Given the description of an element on the screen output the (x, y) to click on. 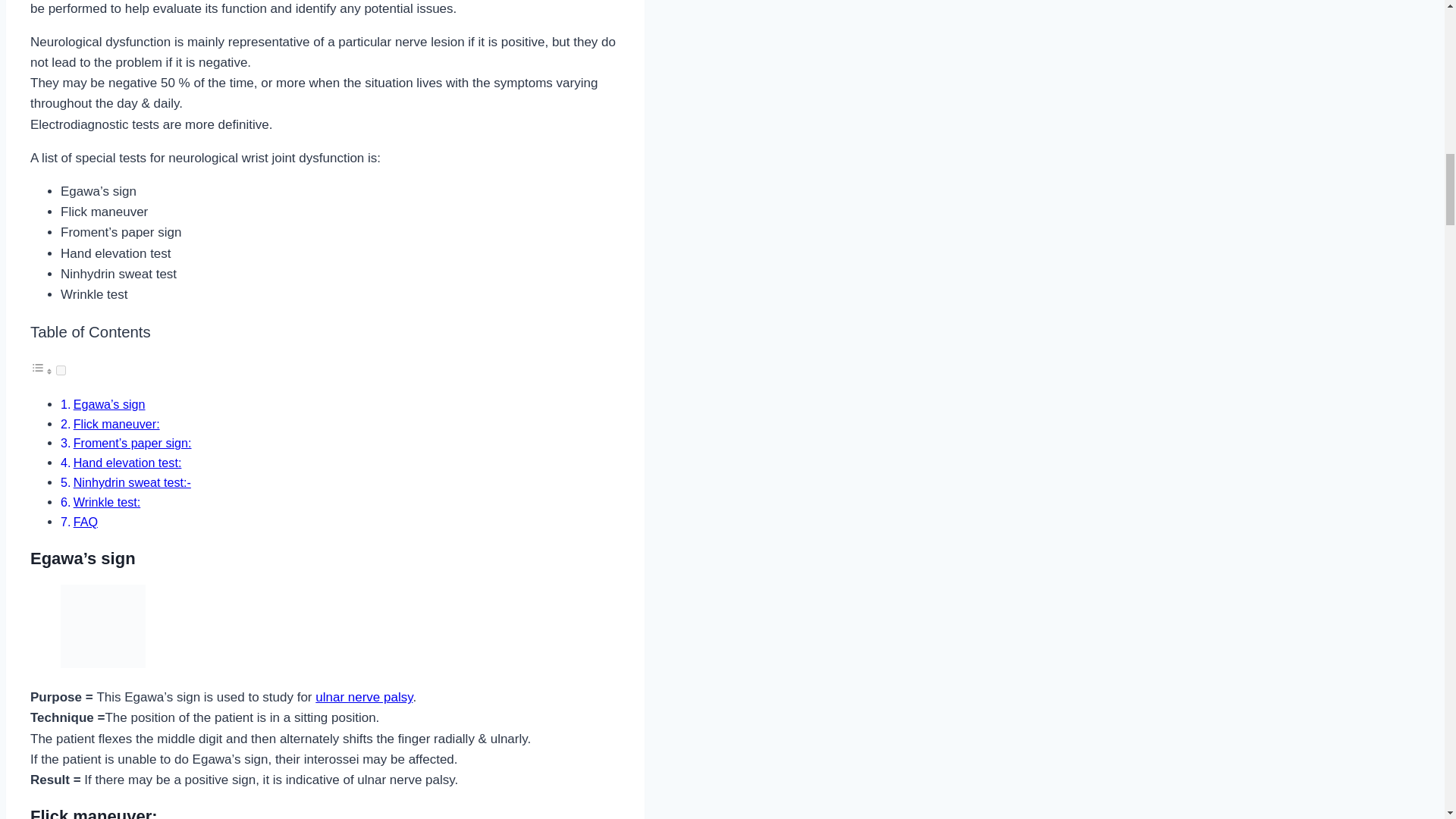
Ninhydrin sweat test:- (132, 481)
Hand elevation test: (128, 462)
Flick maneuver: (117, 423)
Flick maneuver: (117, 423)
Ninhydrin sweat test:- (132, 481)
Hand elevation test: (128, 462)
Wrinkle test: (107, 501)
on (60, 370)
FAQ (85, 521)
